Given the description of an element on the screen output the (x, y) to click on. 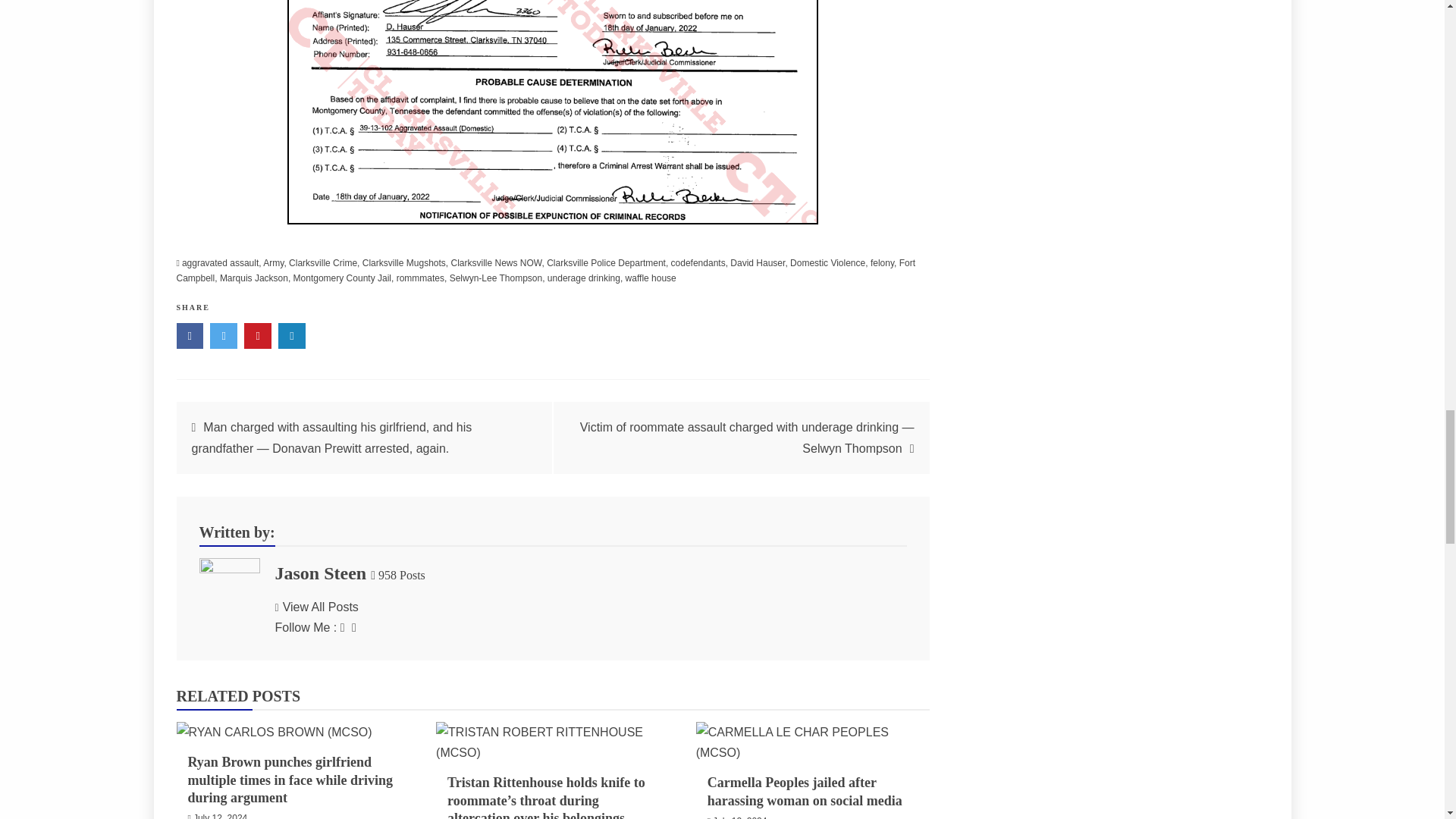
Posts by Jason Steen (320, 573)
Clarksville Crime (322, 262)
Clarksville News NOW (495, 262)
aggravated assault (220, 262)
codefendants (698, 262)
rommmates (420, 277)
Army (273, 262)
Marquis Jackson (253, 277)
Fort Campbell (545, 270)
Selwyn-Lee Thompson (496, 277)
Clarksville Police Department (606, 262)
Domestic Violence (827, 262)
underage drinking (583, 277)
Clarksville Mugshots (403, 262)
David Hauser (757, 262)
